Given the description of an element on the screen output the (x, y) to click on. 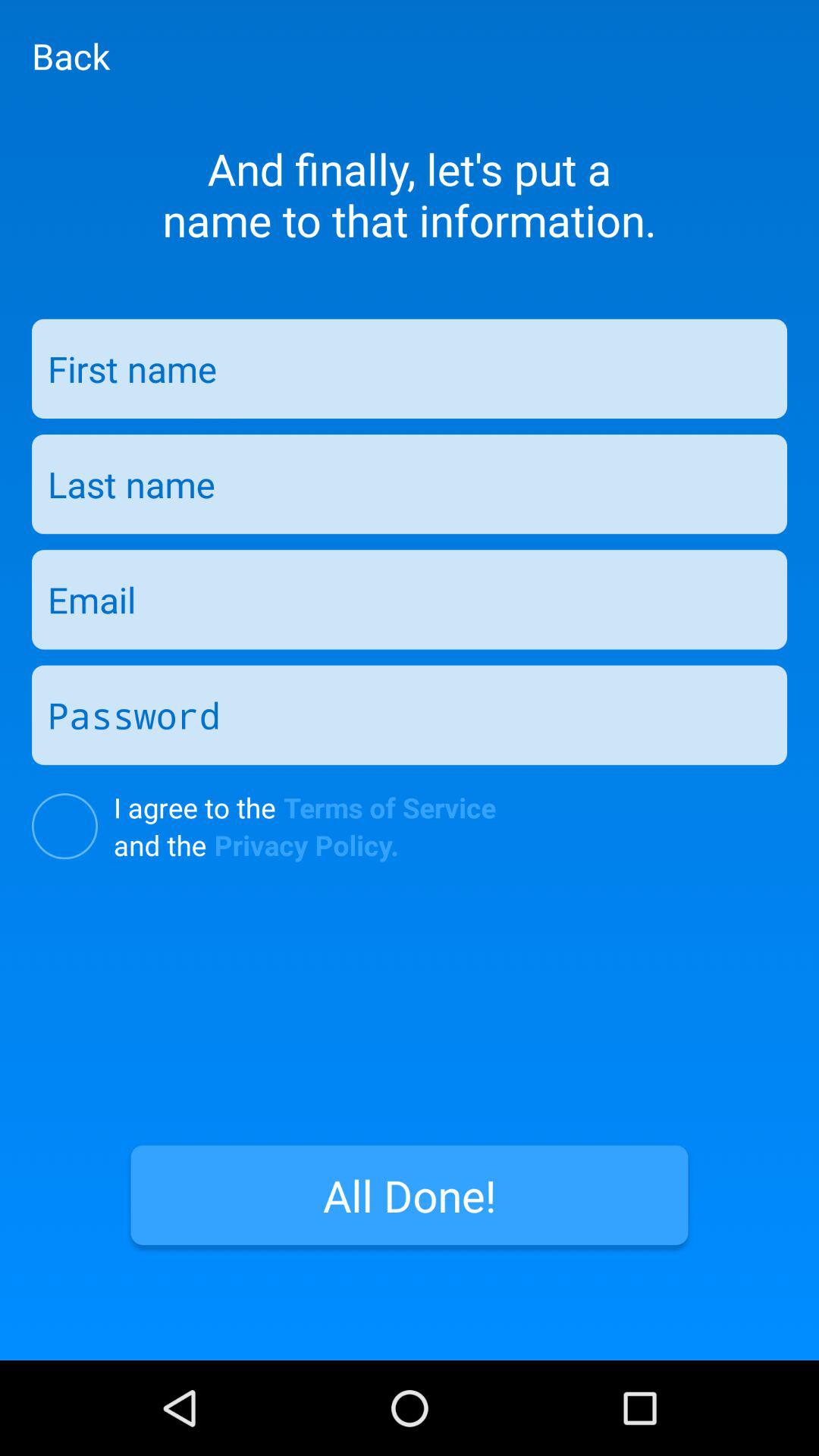
agree the condition (64, 826)
